Given the description of an element on the screen output the (x, y) to click on. 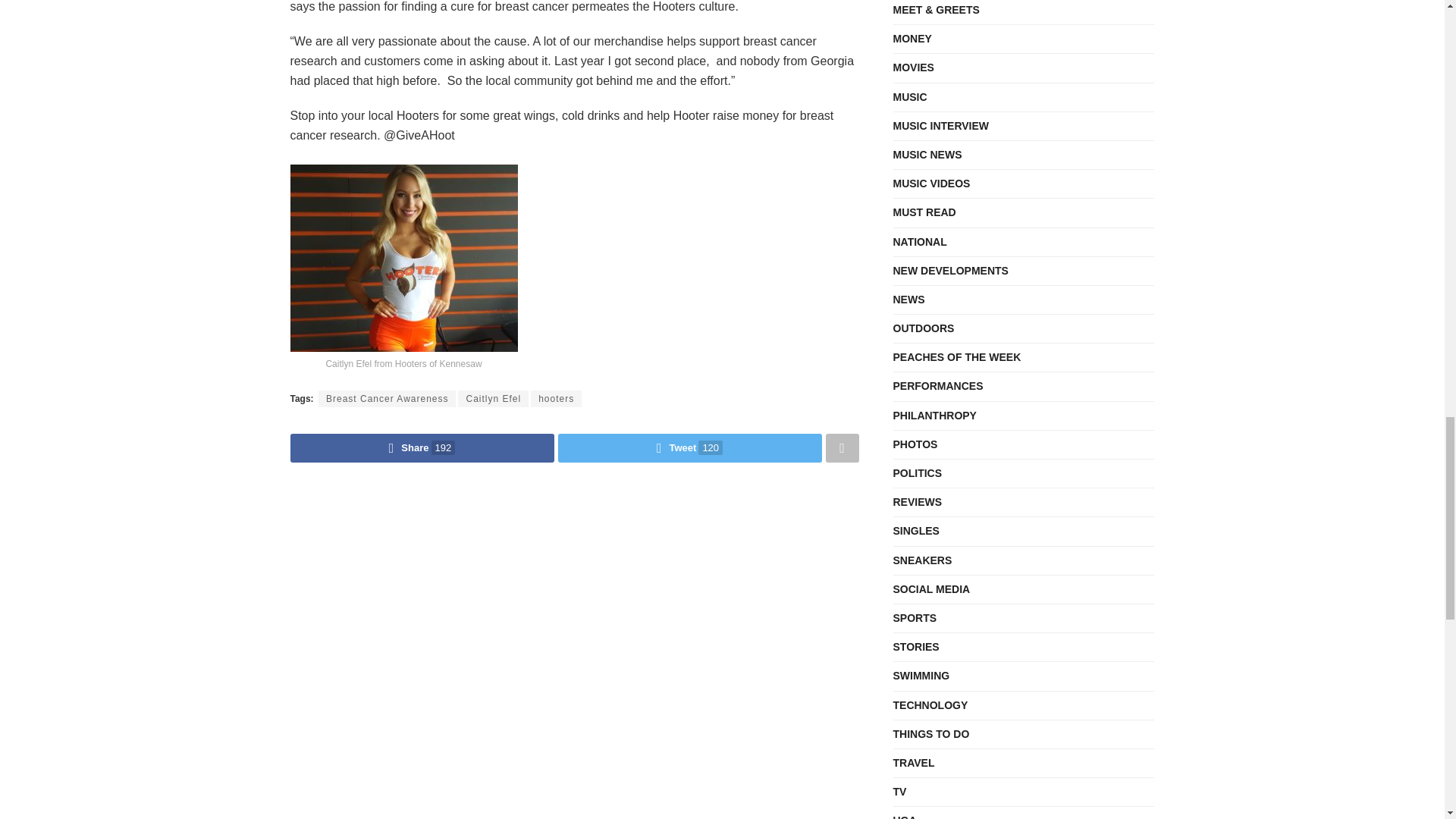
Breast Cancer Awareness (387, 398)
Caitlyn Efel (493, 398)
